Given the description of an element on the screen output the (x, y) to click on. 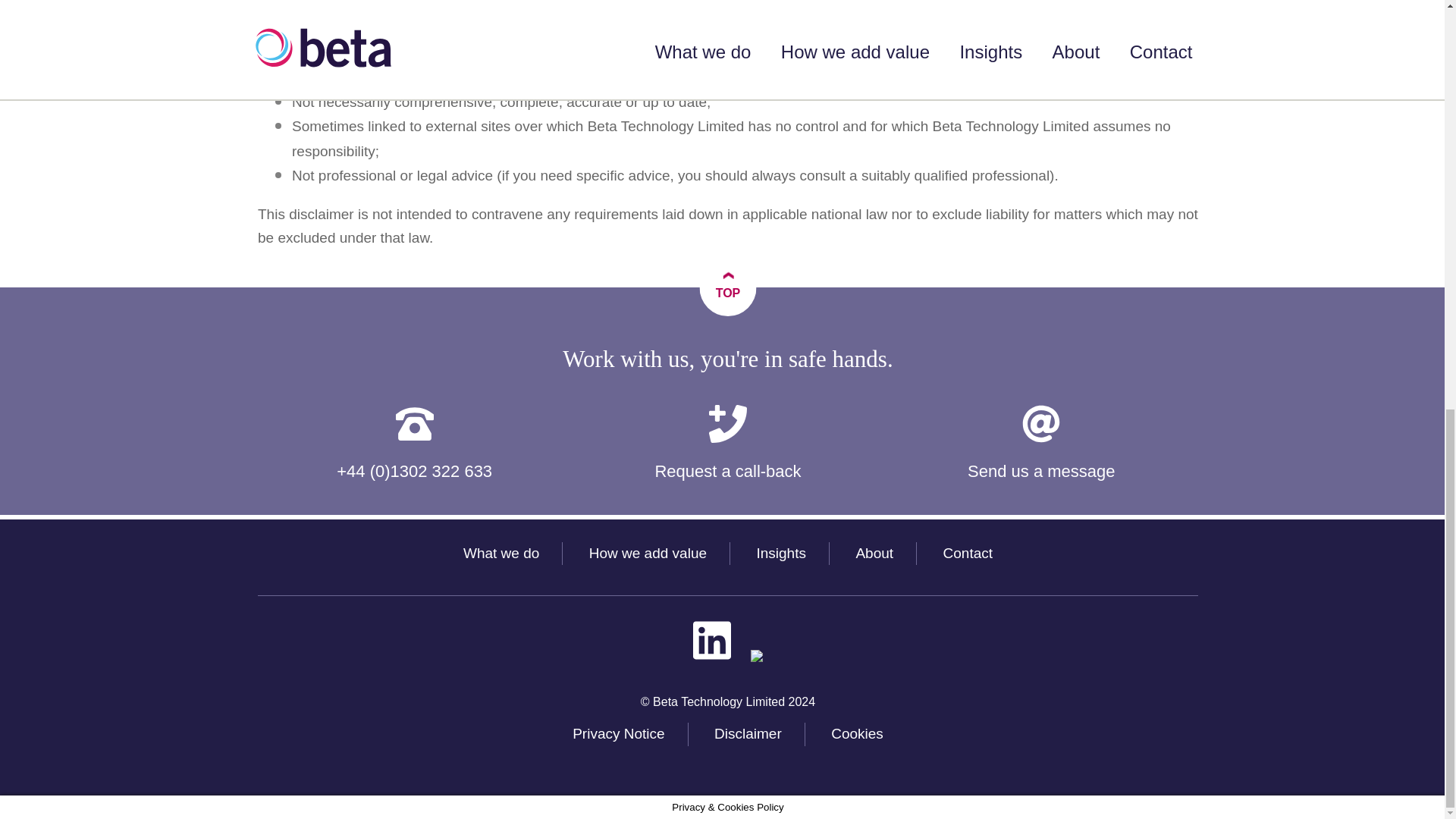
Privacy Notice (617, 733)
About (874, 553)
Cookies (857, 733)
How we add value (647, 553)
Insights (780, 553)
What we do (500, 553)
Disclaimer (747, 733)
Request a call-back (727, 444)
Contact (967, 553)
Send us a message (1041, 444)
